Given the description of an element on the screen output the (x, y) to click on. 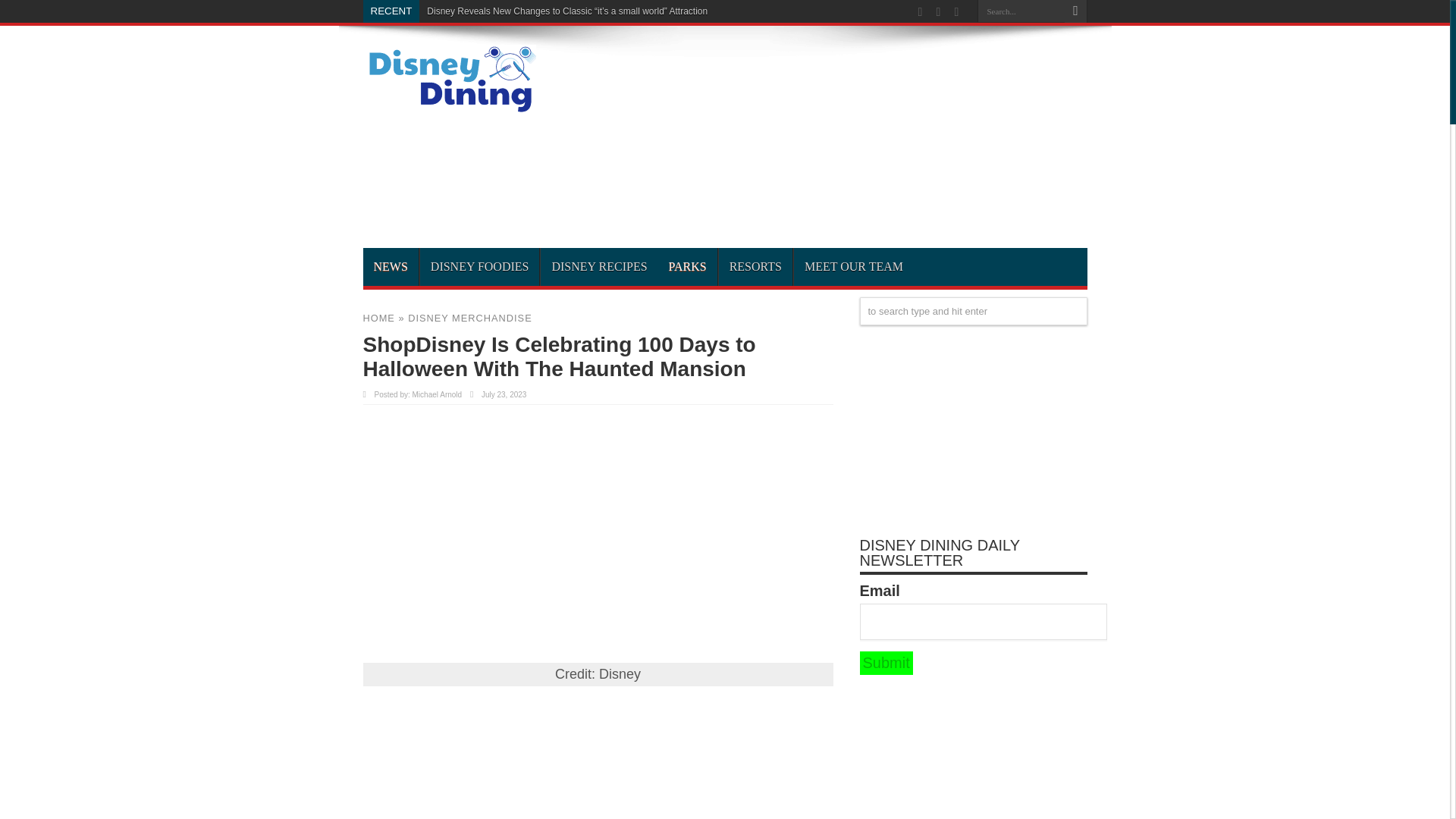
Disney Dining (448, 107)
Search... (1020, 11)
PARKS (687, 266)
NEWS (389, 266)
DISNEY MERCHANDISE (469, 317)
Michael Arnold (437, 394)
to search type and hit enter (973, 311)
Search (1075, 11)
MEET OUR TEAM (853, 266)
HOME (378, 317)
